Given the description of an element on the screen output the (x, y) to click on. 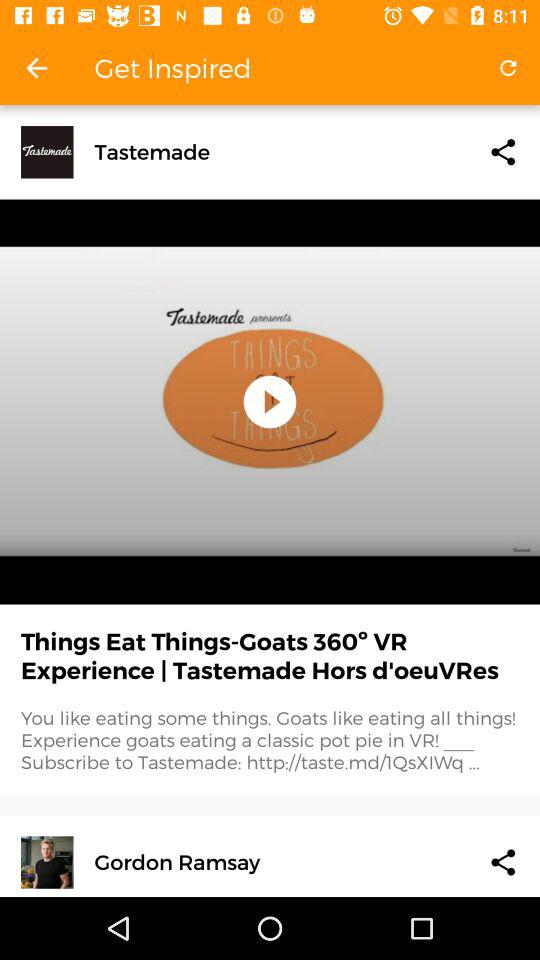
share the video (503, 862)
